Given the description of an element on the screen output the (x, y) to click on. 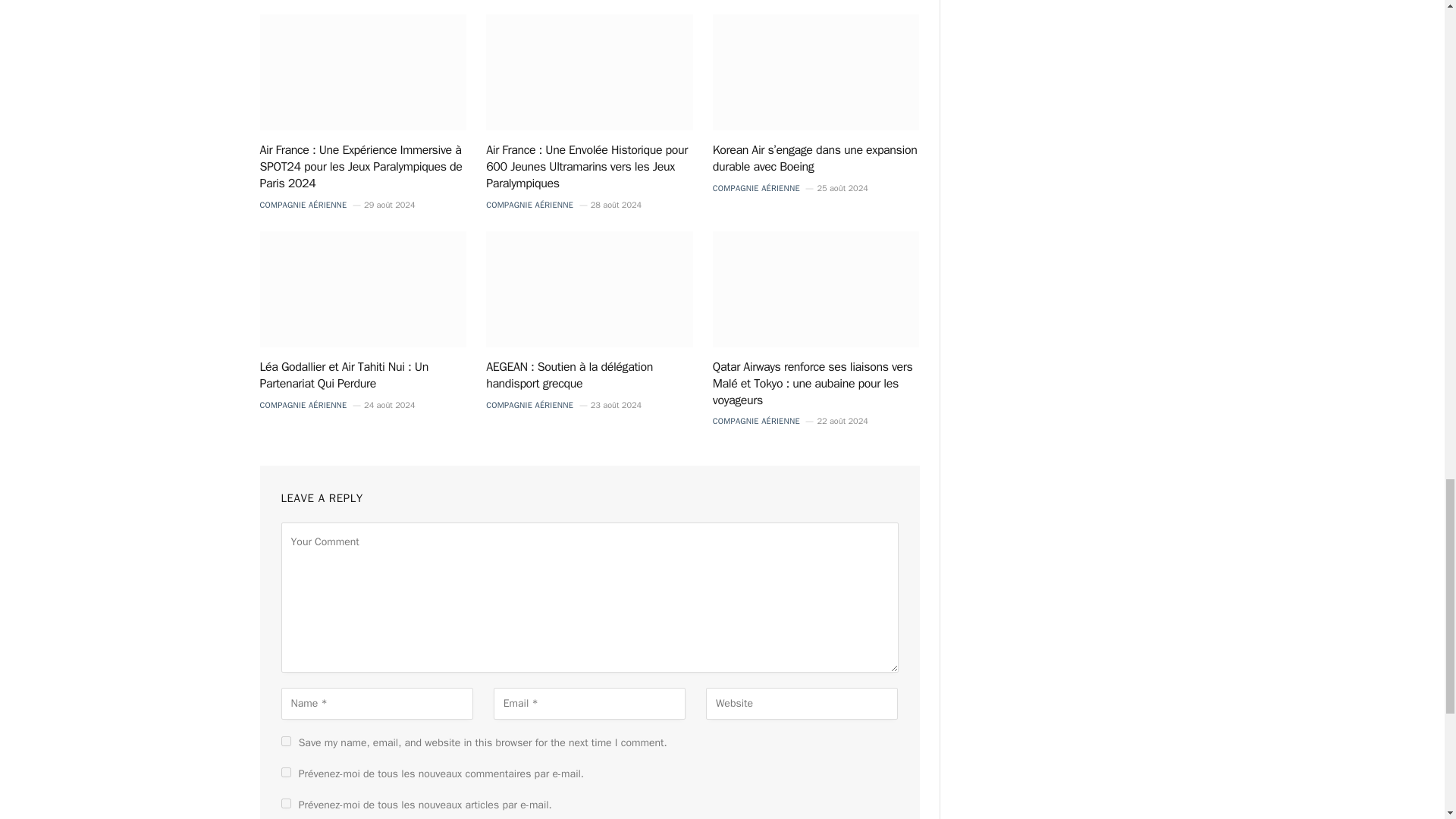
subscribe (285, 772)
subscribe (285, 803)
yes (285, 741)
